Given the description of an element on the screen output the (x, y) to click on. 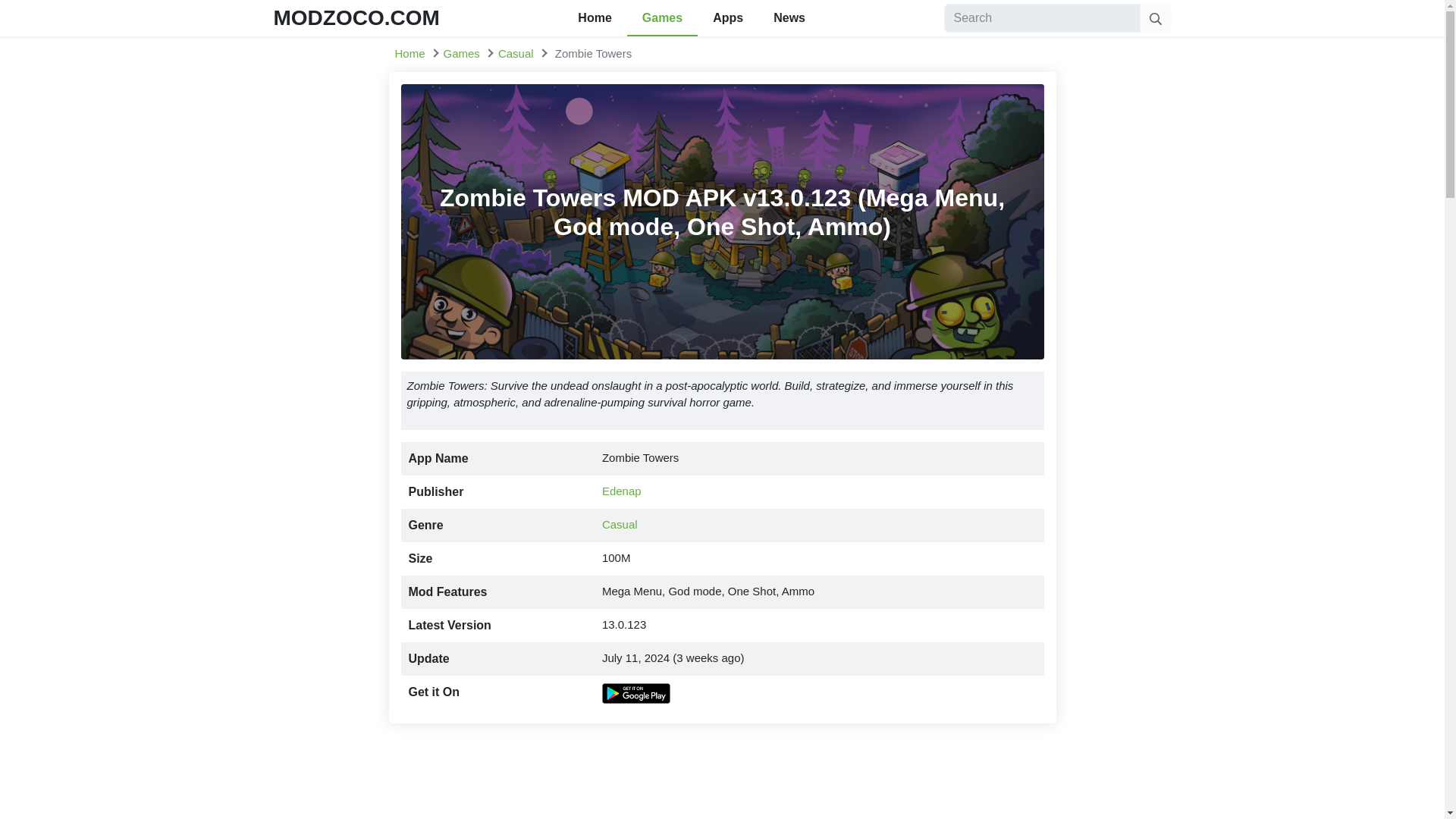
Home (409, 52)
Home (409, 52)
Home (594, 18)
Casual (515, 52)
Games (662, 18)
Games (462, 52)
News (789, 18)
MODZOCO.COM (356, 17)
Edenap (622, 490)
Apps (727, 18)
Casual (619, 523)
Advertisement (721, 777)
